Given the description of an element on the screen output the (x, y) to click on. 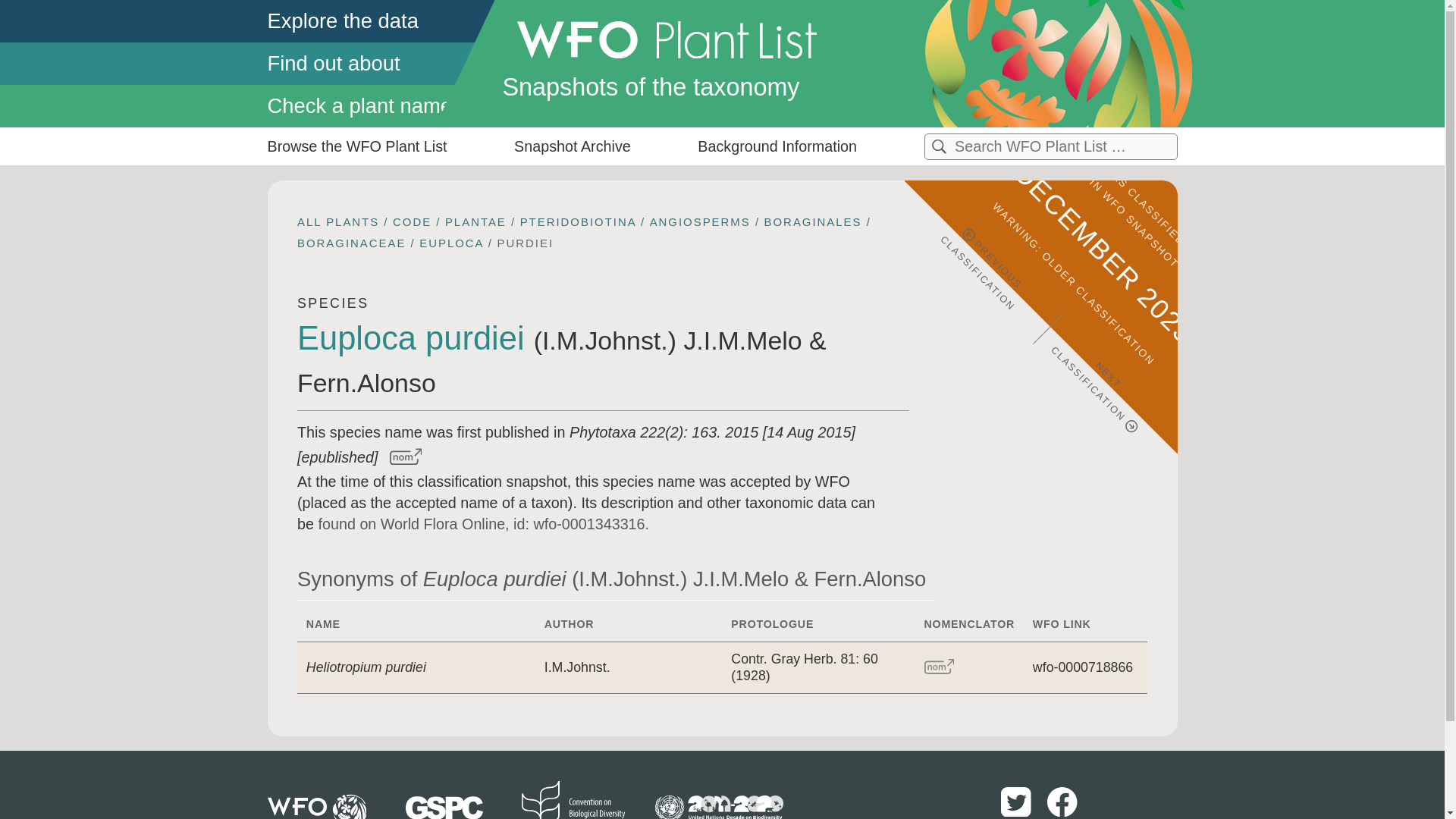
Twitter Logo (1015, 802)
Find out about (380, 63)
Snapshot Archive (571, 146)
Ivan Murray Johnston 1898-1960 (604, 339)
Link to external nomenclature reference (938, 666)
Check a plant name (380, 105)
Background Information (777, 146)
wfo-0000718866 (1082, 667)
Link to external nomenclature reference (401, 457)
Fern.Alonso (366, 382)
Link to external nomenclature reference (939, 667)
found on World Flora Online, id: wfo-0001343316. (483, 523)
Browse the WFO Plant List (356, 146)
J.I.M.Melo (742, 339)
Twitter Logo (1017, 814)
